Given the description of an element on the screen output the (x, y) to click on. 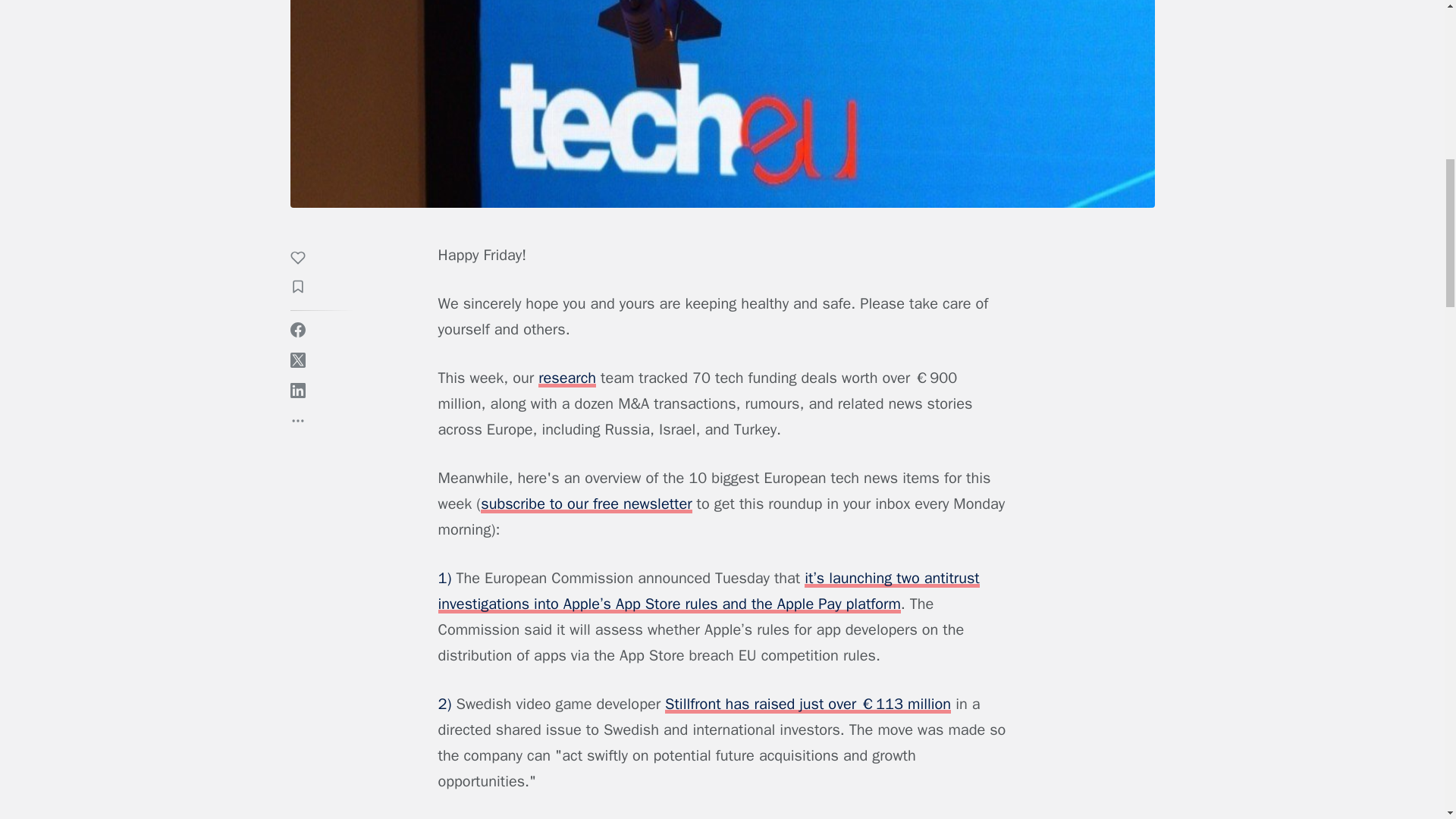
Share on Facebook (296, 329)
Add to collection (304, 288)
Like (304, 260)
Share on Twitter (296, 359)
Share on Linkedin (296, 390)
